Given the description of an element on the screen output the (x, y) to click on. 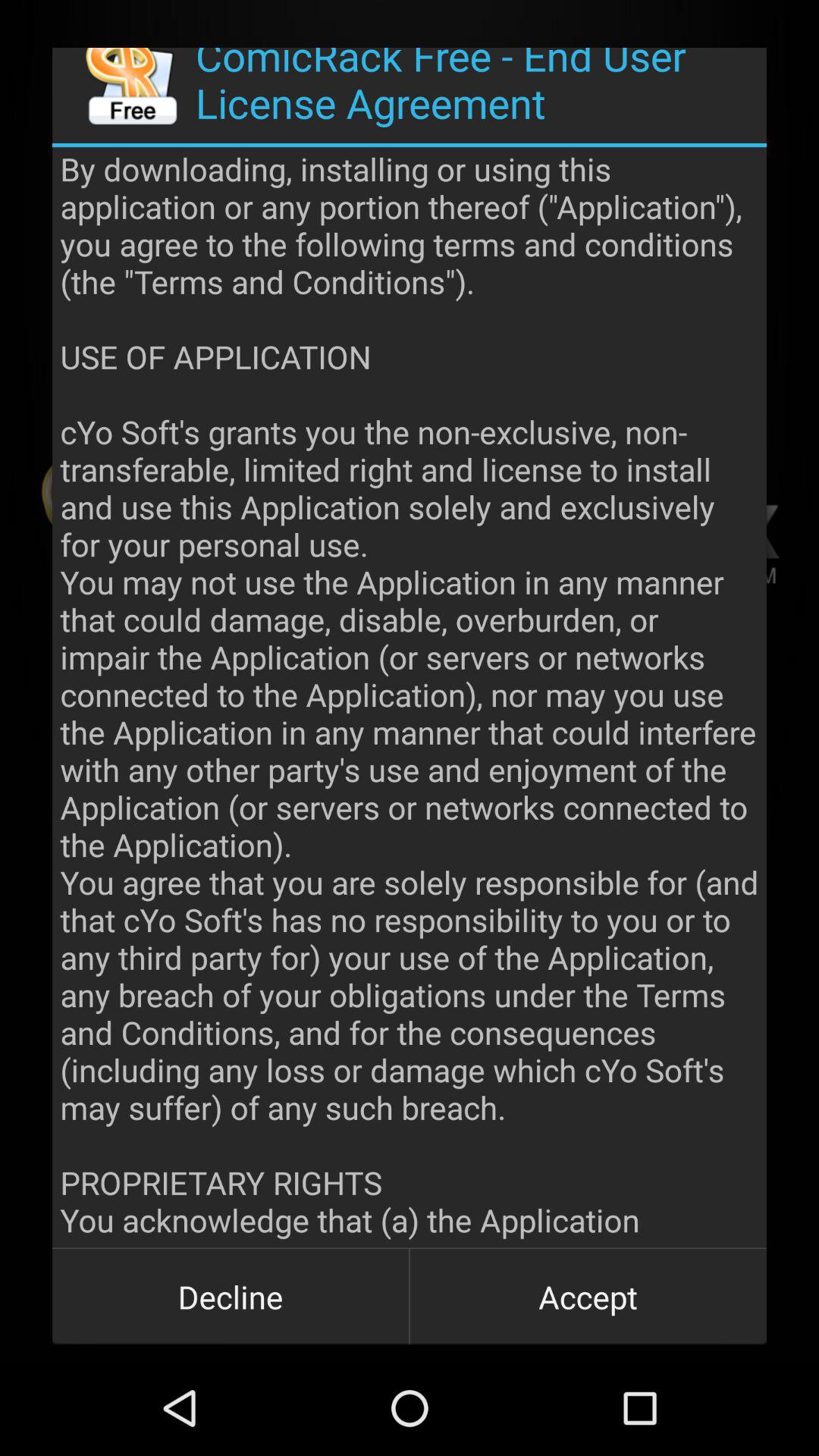
open the item at the bottom right corner (588, 1296)
